Given the description of an element on the screen output the (x, y) to click on. 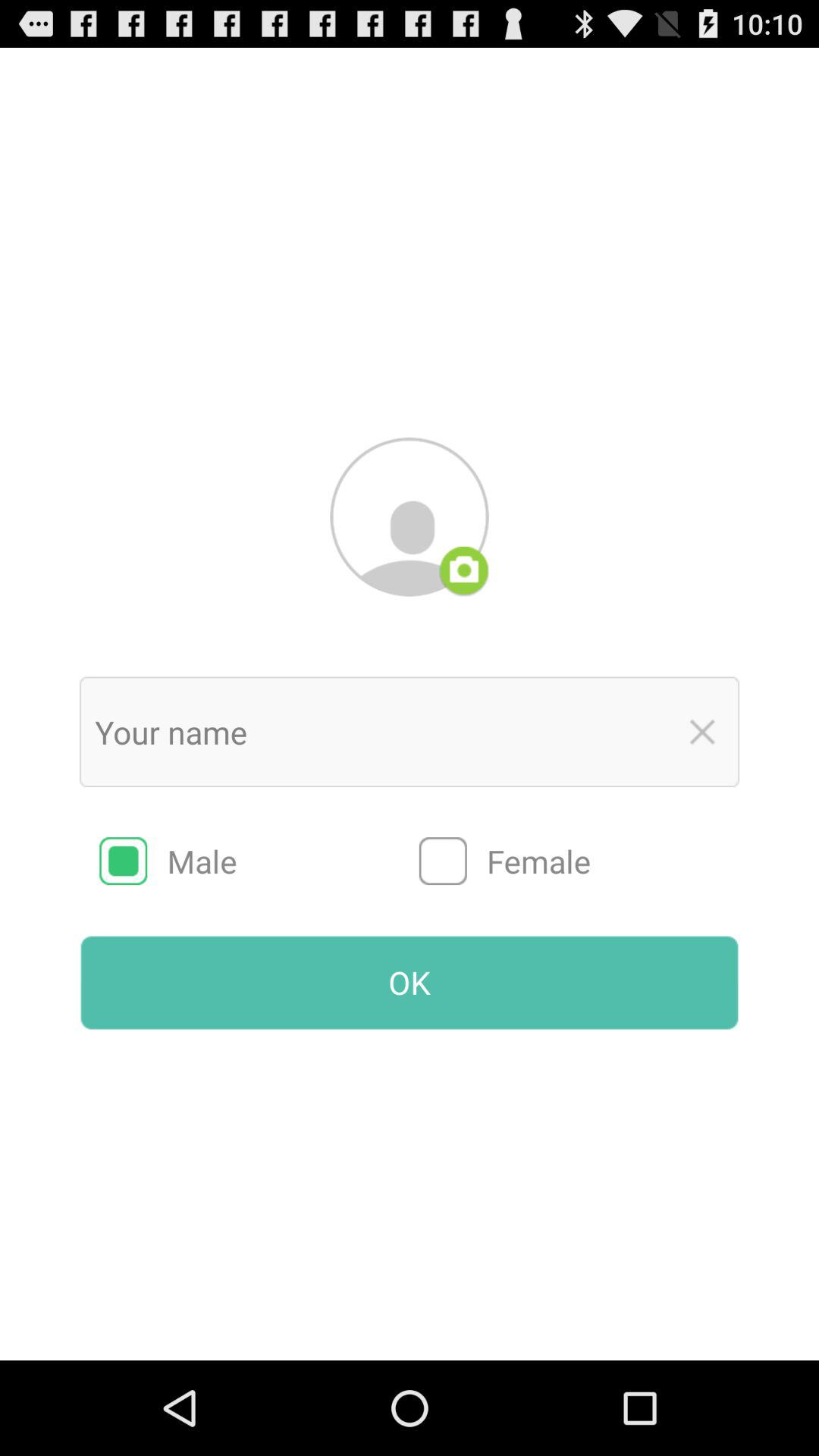
flip to ok icon (409, 982)
